Given the description of an element on the screen output the (x, y) to click on. 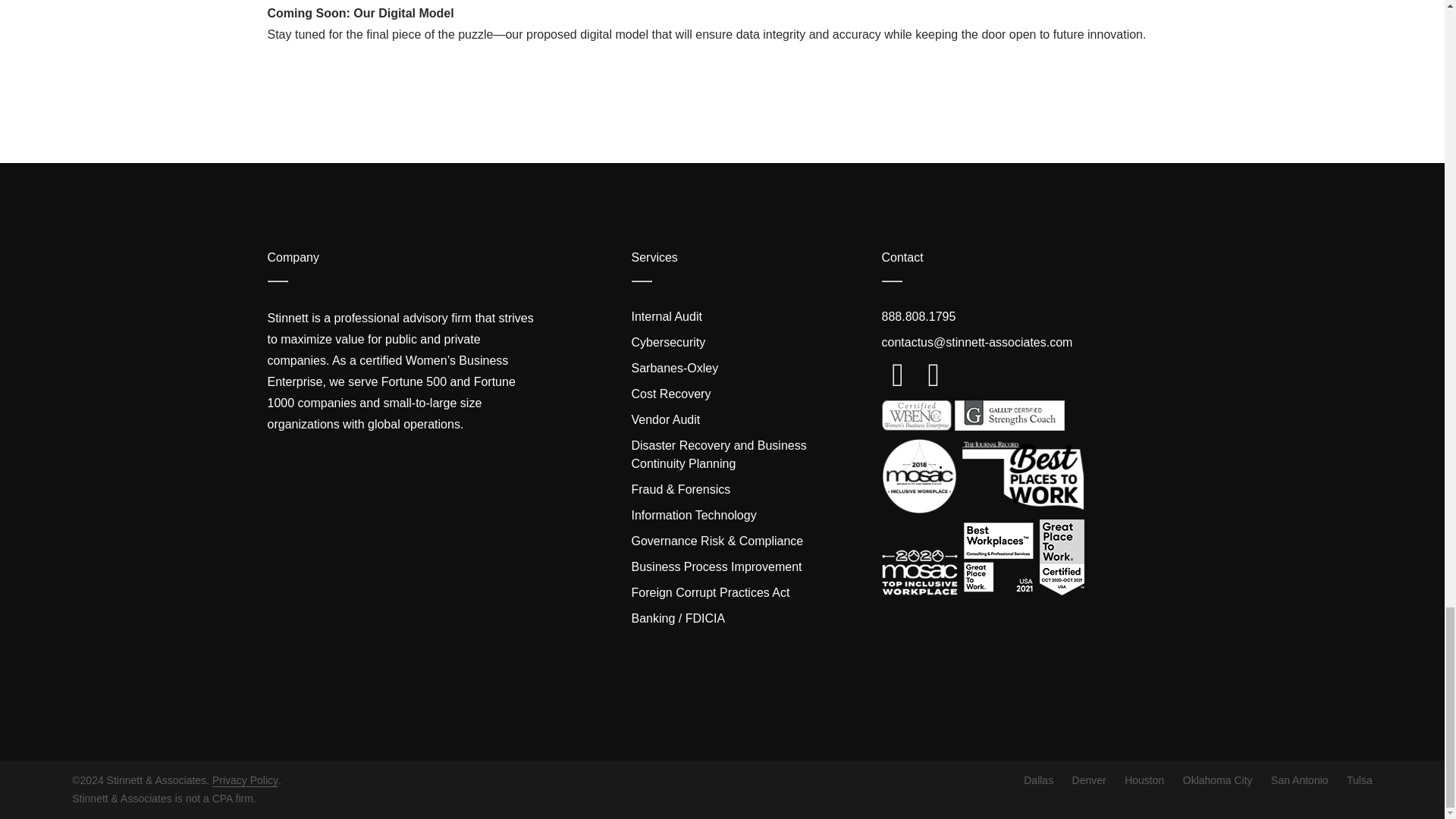
Contact (901, 256)
Privacy Policy (245, 780)
Cost Recovery (670, 393)
888.808.1795 (917, 316)
Internal Audit (665, 316)
Sarbanes-Oxley (673, 367)
Services (653, 256)
Disaster Recovery and Business Continuity Planning (718, 454)
Business Process Improvement (716, 566)
Cybersecurity (667, 341)
Vendor Audit (665, 419)
Information Technology (692, 514)
Company (292, 256)
Foreign Corrupt Practices Act (709, 592)
